Given the description of an element on the screen output the (x, y) to click on. 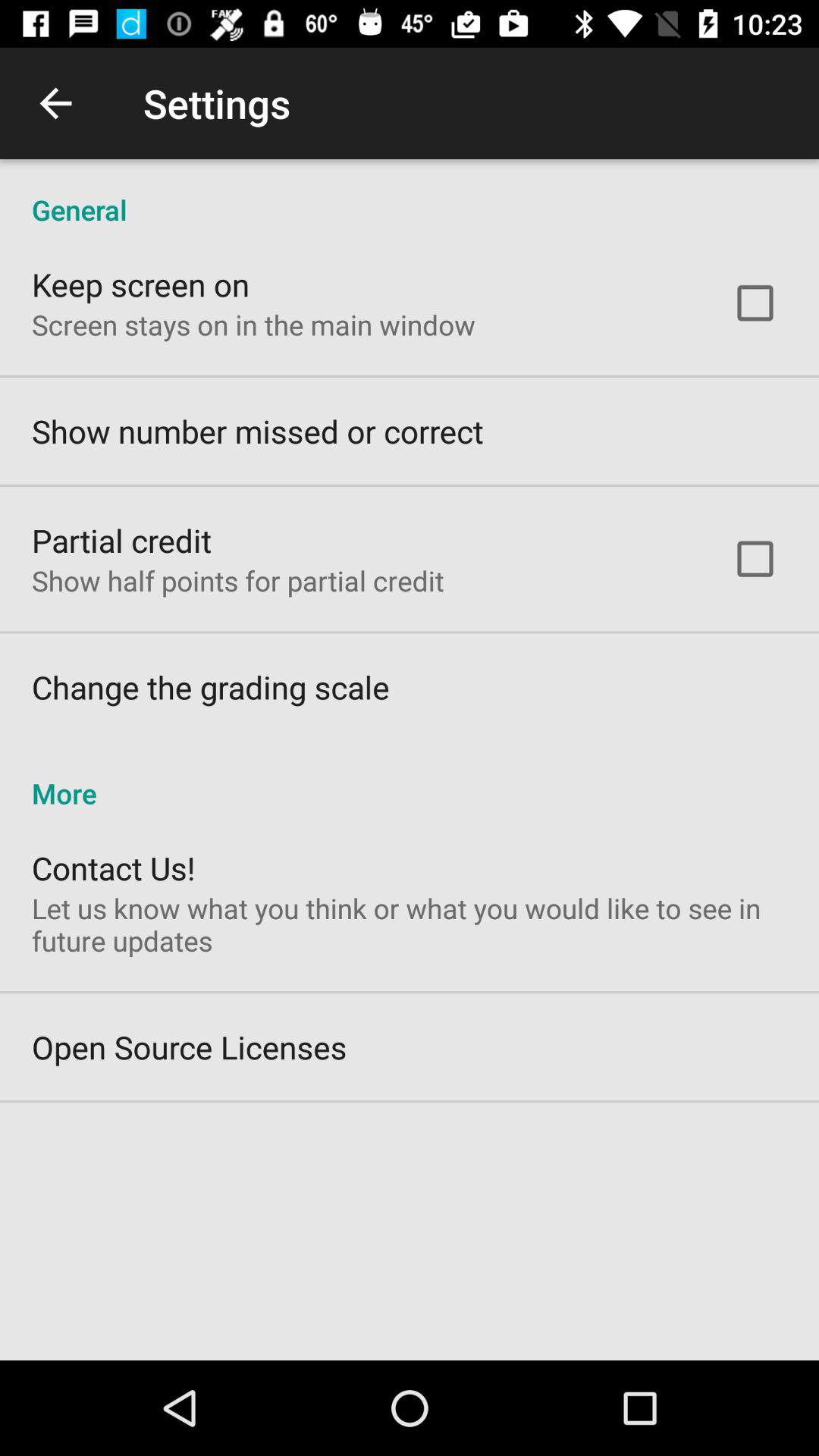
click on second check box from top (755, 559)
click on the box which is beside keep screen on (755, 302)
